Given the description of an element on the screen output the (x, y) to click on. 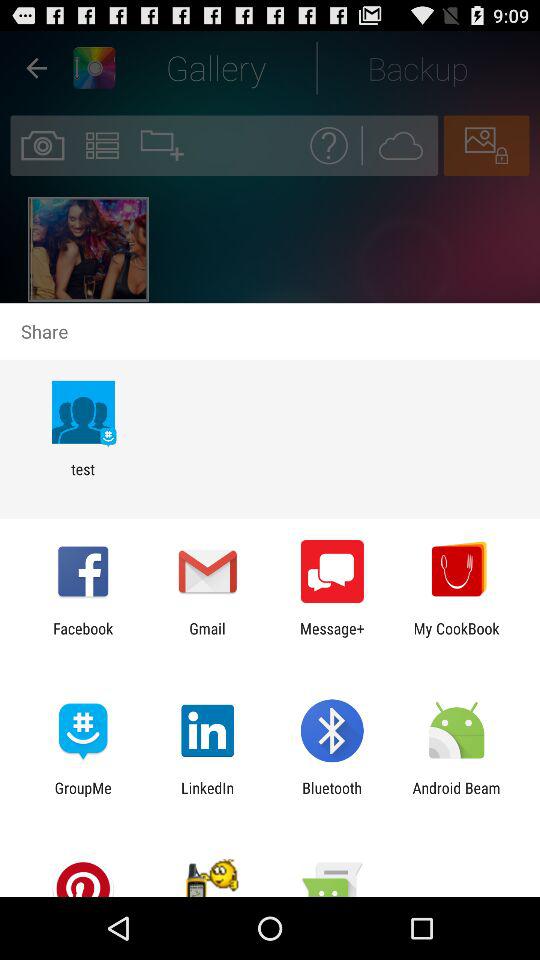
turn off app to the right of facebook icon (207, 637)
